Given the description of an element on the screen output the (x, y) to click on. 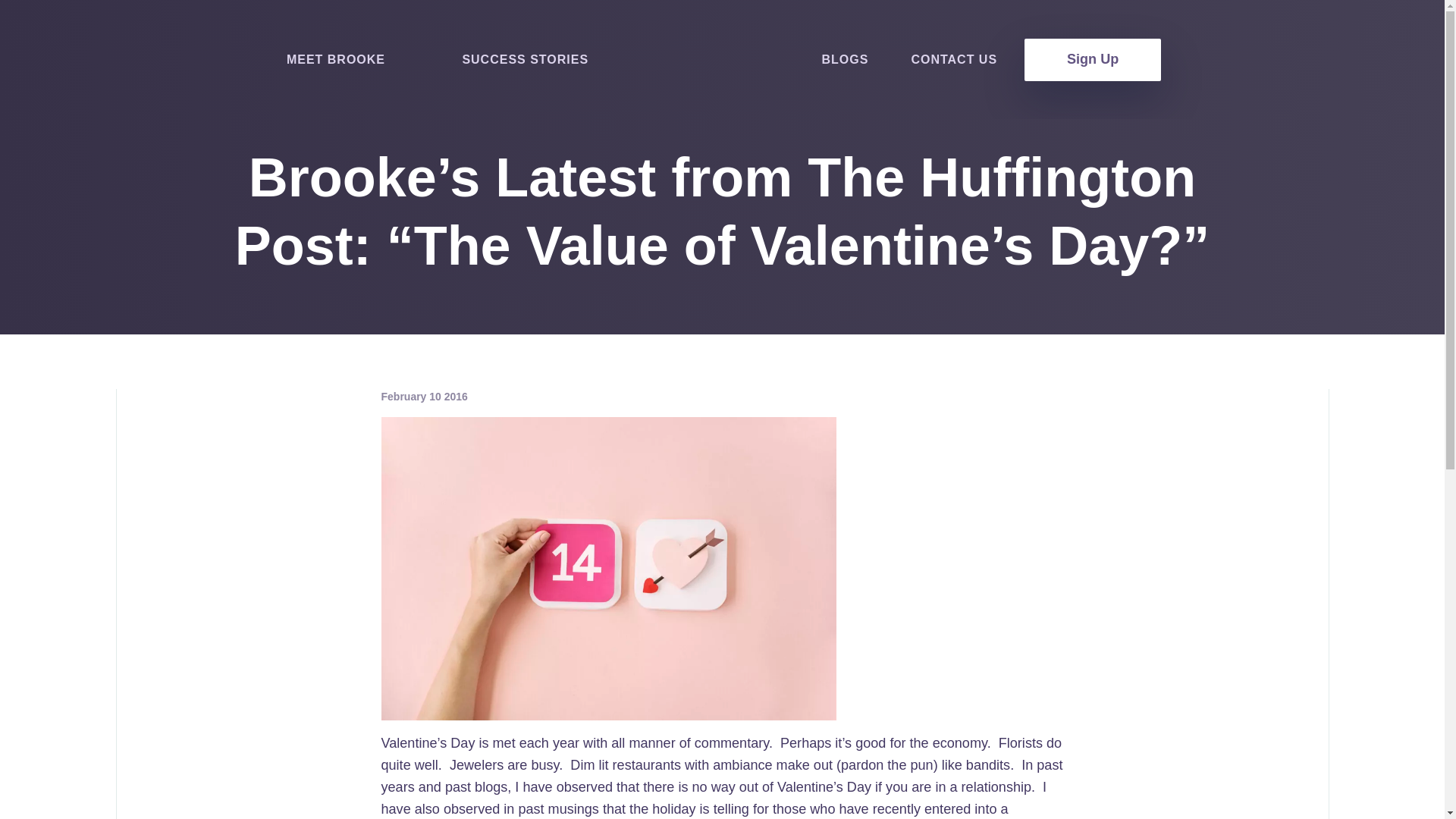
SUCCESS STORIES (524, 59)
BLOGS (845, 59)
CONTACT US (953, 59)
Sign Up (1092, 58)
Main page (722, 59)
MEET BROOKE (335, 59)
